Given the description of an element on the screen output the (x, y) to click on. 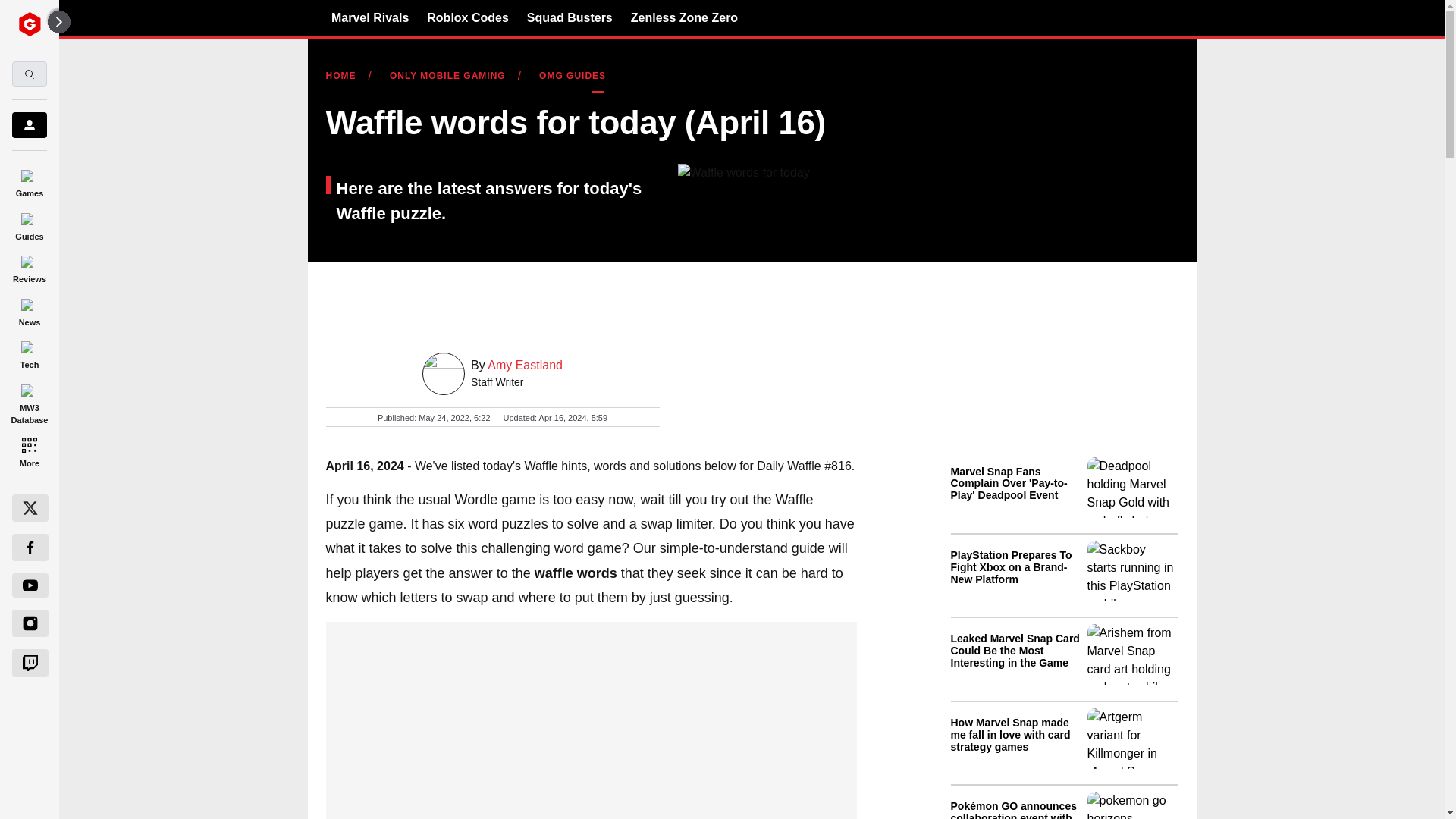
Reviews (28, 266)
Zenless Zone Zero (684, 18)
Roblox Codes (467, 18)
Games (28, 180)
Guides (28, 224)
Marvel Rivals (370, 18)
News (28, 309)
Tech (28, 352)
More (28, 450)
Squad Busters (569, 18)
